Given the description of an element on the screen output the (x, y) to click on. 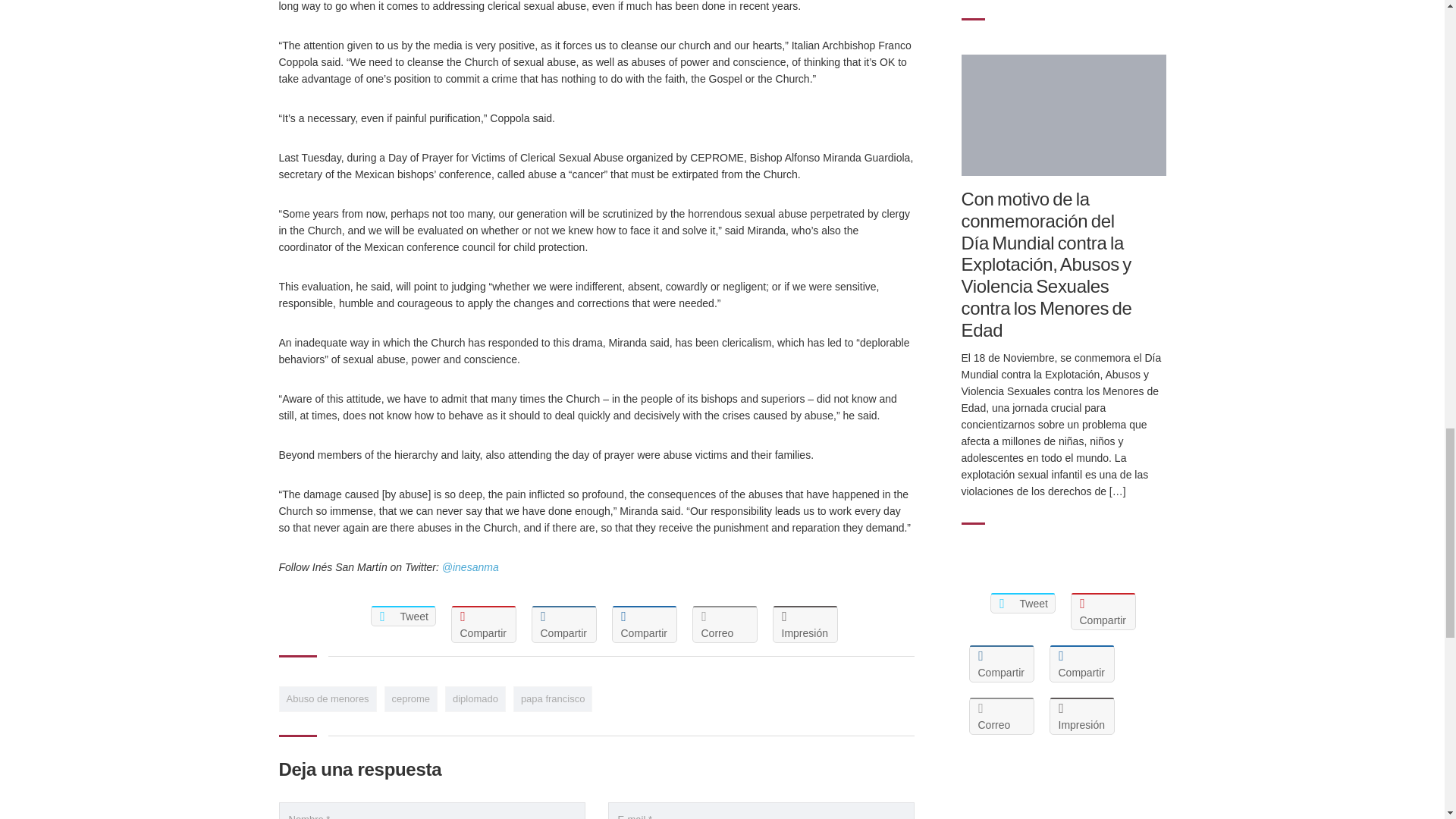
Compartir en Pinterest (482, 624)
Compartir en Linkedin (563, 624)
Compartir en Digg (644, 624)
Compartir en Twitter (402, 616)
